Given the description of an element on the screen output the (x, y) to click on. 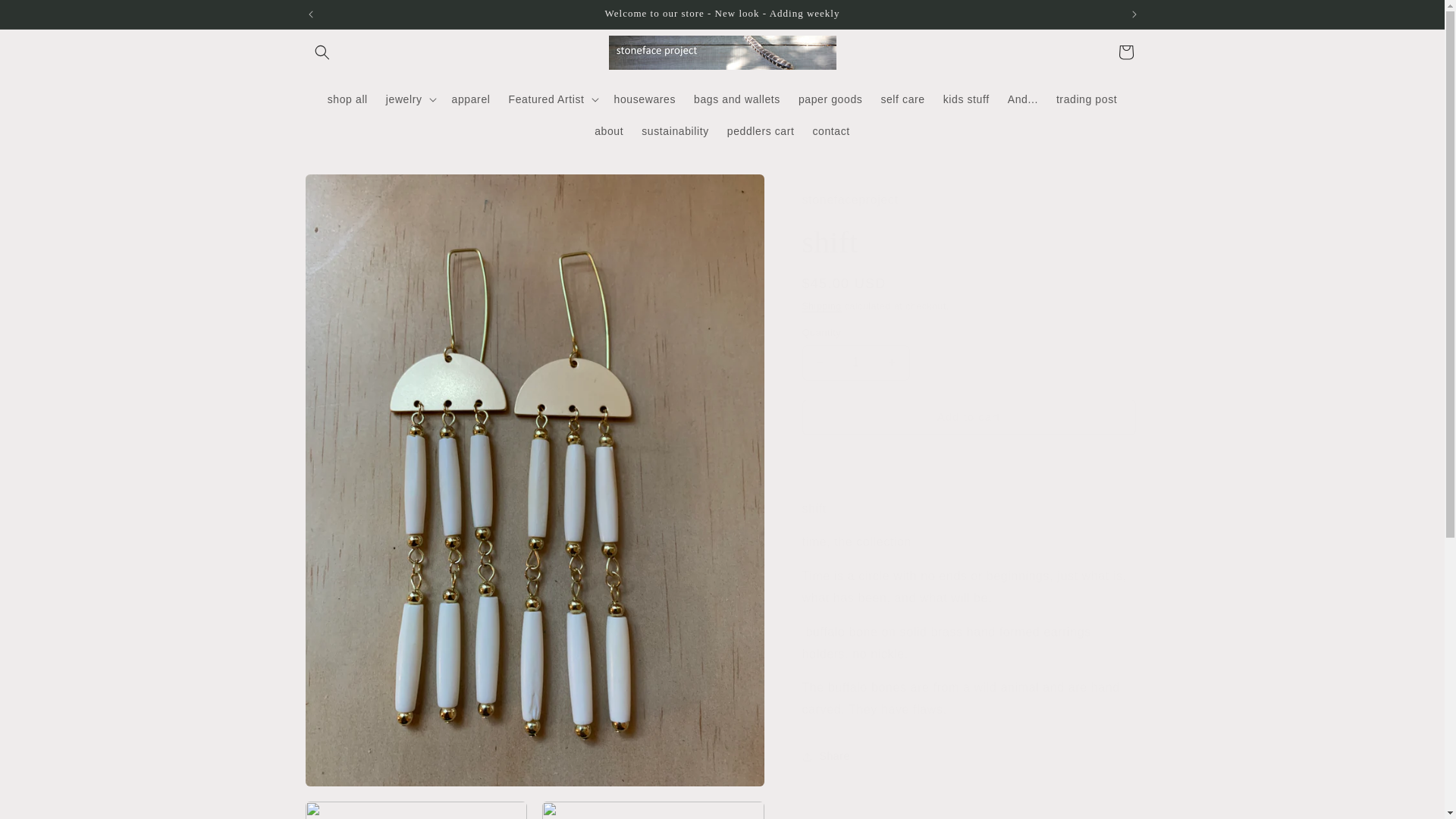
Skip to content (45, 17)
1 (856, 362)
shop all (347, 99)
Open media 3 in modal (652, 810)
Open media 2 in modal (415, 810)
